Given the description of an element on the screen output the (x, y) to click on. 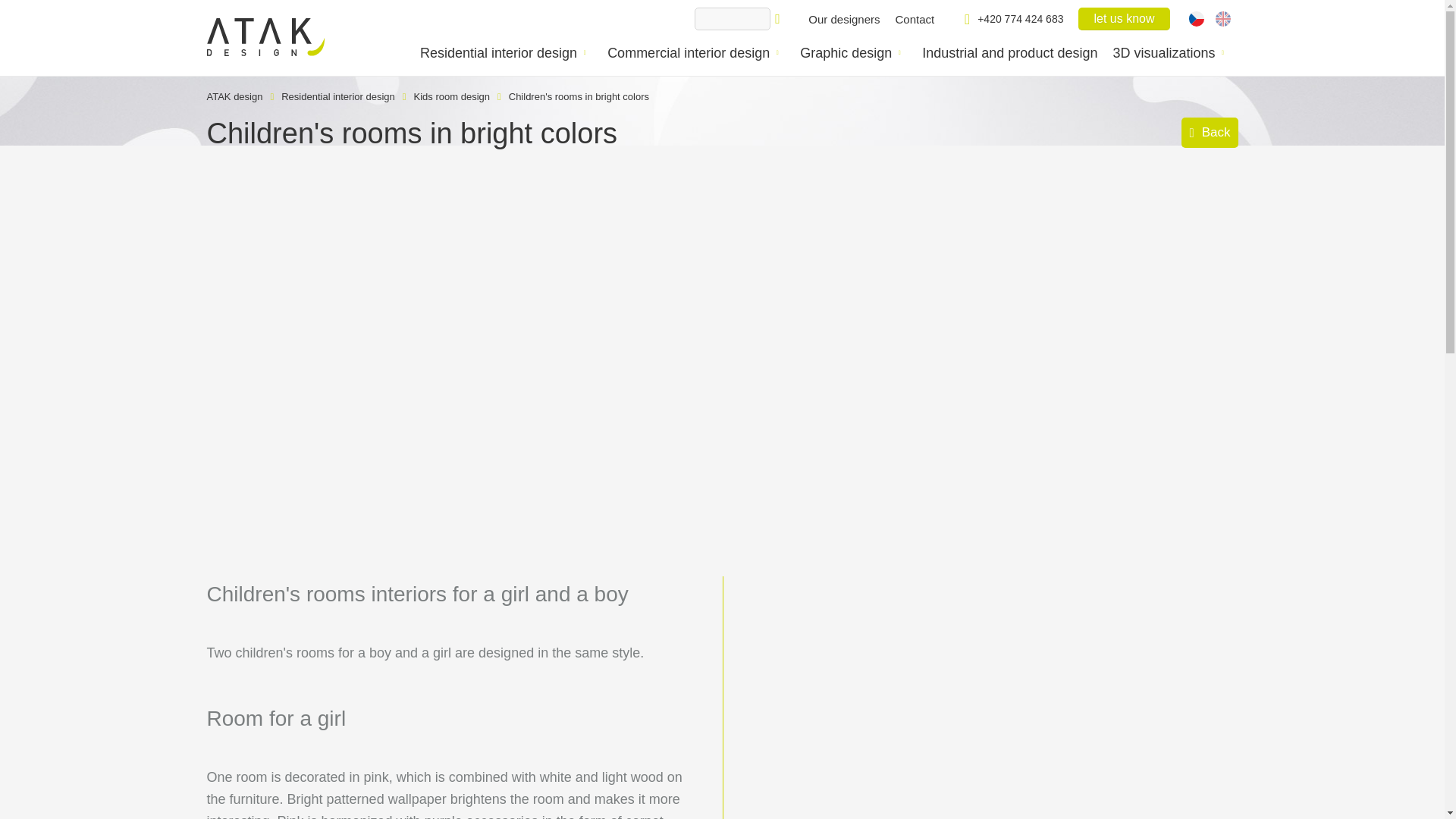
Contact (914, 18)
Search (781, 18)
Commercial interior design (688, 53)
Residential interior design (498, 53)
CZ (1196, 18)
let us know (1123, 18)
Search (781, 18)
3D visualizations (1163, 53)
Our designers (843, 18)
ATAK design (234, 96)
Kids room design (451, 96)
Back (1208, 132)
Graphic design (845, 53)
Industrial and product design (1009, 53)
Residential interior design (337, 96)
